Given the description of an element on the screen output the (x, y) to click on. 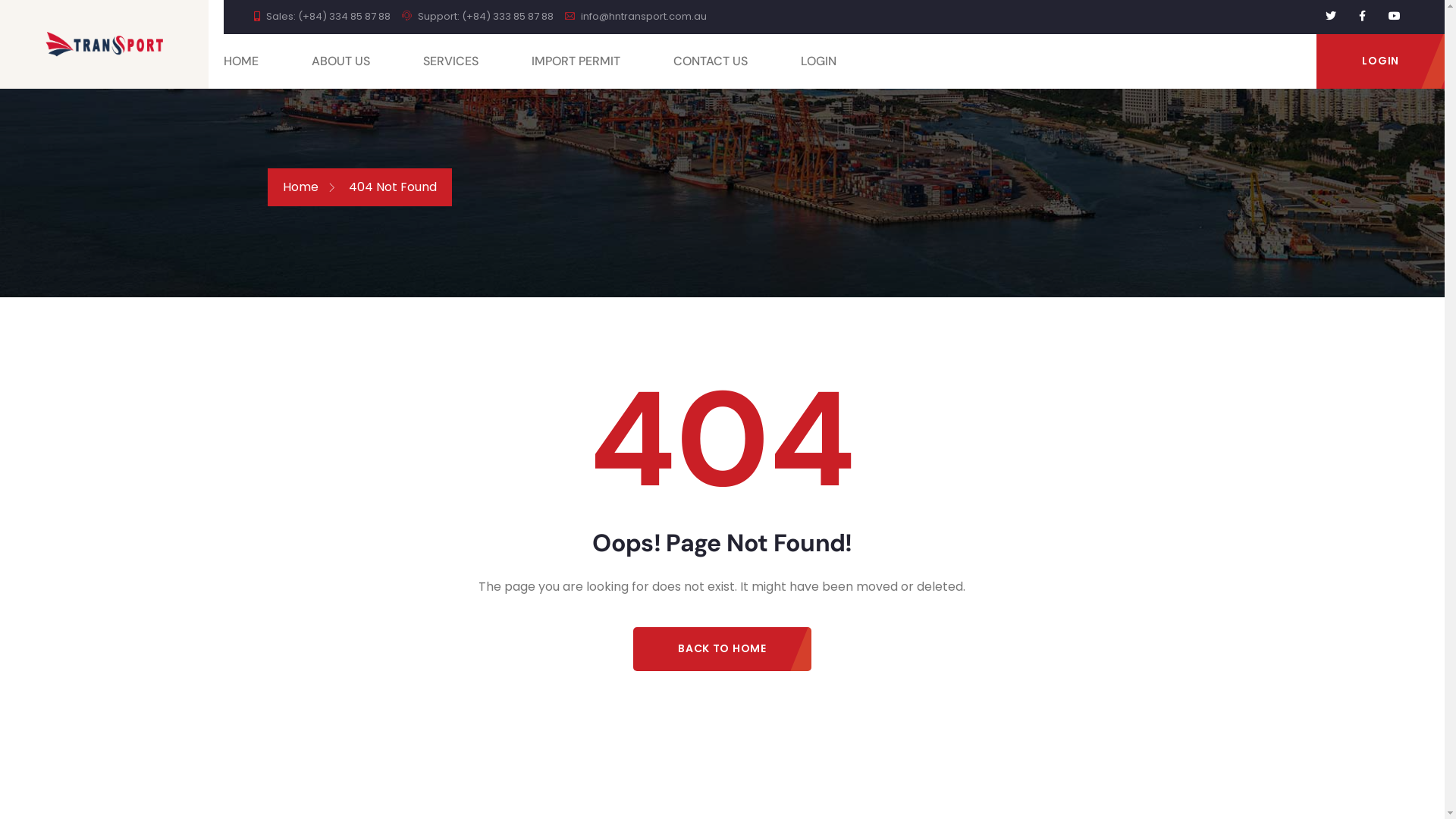
HOME Element type: text (267, 61)
IMPORT PERMIT Element type: text (602, 61)
LOGIN Element type: text (1380, 61)
Home Element type: text (299, 186)
LOGIN Element type: text (844, 61)
BACK TO HOME Element type: text (722, 649)
SERVICES Element type: text (477, 61)
CONTACT US Element type: text (736, 61)
ABOUT US Element type: text (367, 61)
